Given the description of an element on the screen output the (x, y) to click on. 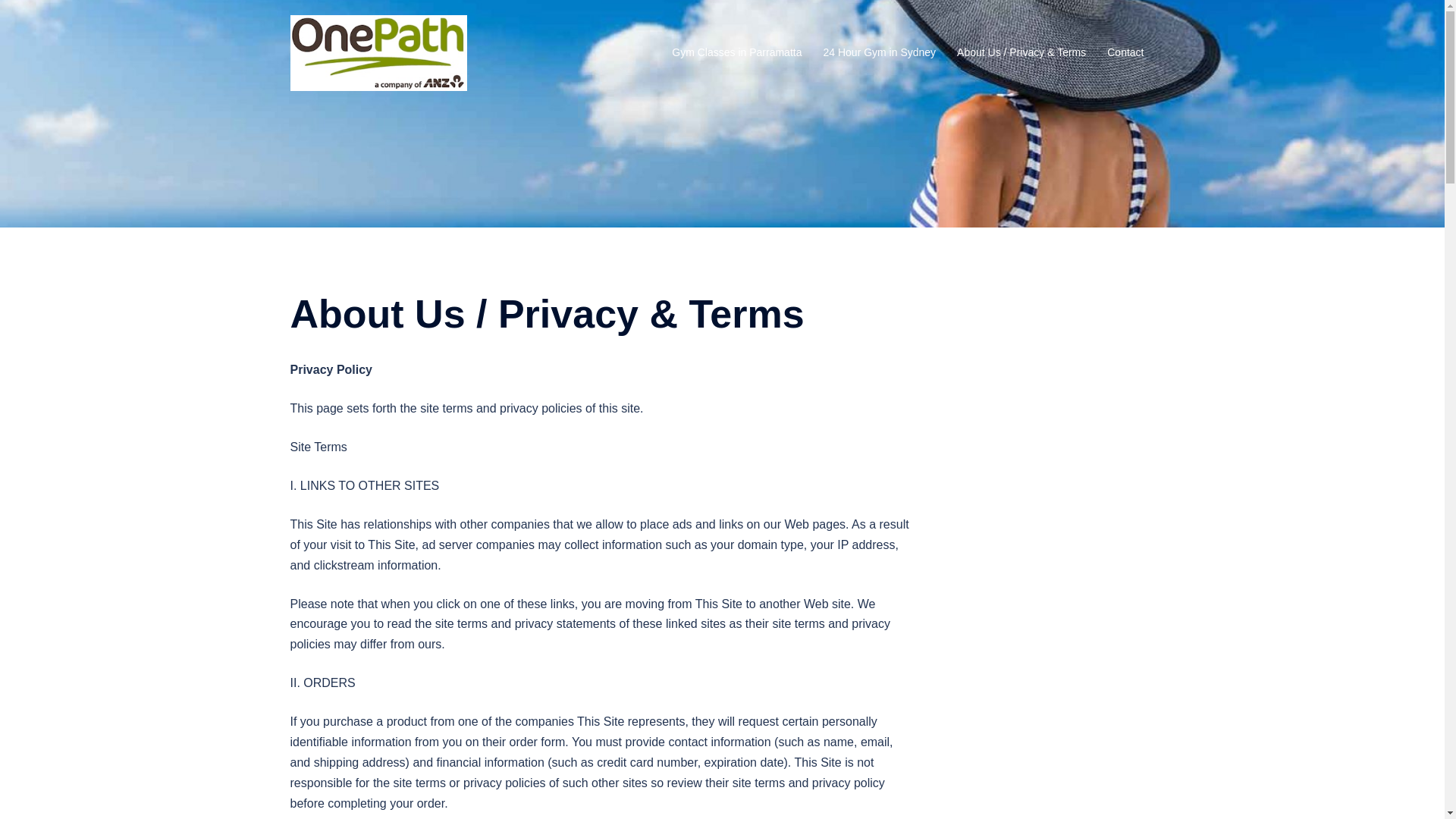
Contact Element type: text (1125, 52)
About Us / Privacy & Terms Element type: text (1021, 52)
Gym Day Element type: hover (378, 51)
Gym Classes in Parramatta Element type: text (736, 52)
24 Hour Gym in Sydney Element type: text (878, 52)
